Given the description of an element on the screen output the (x, y) to click on. 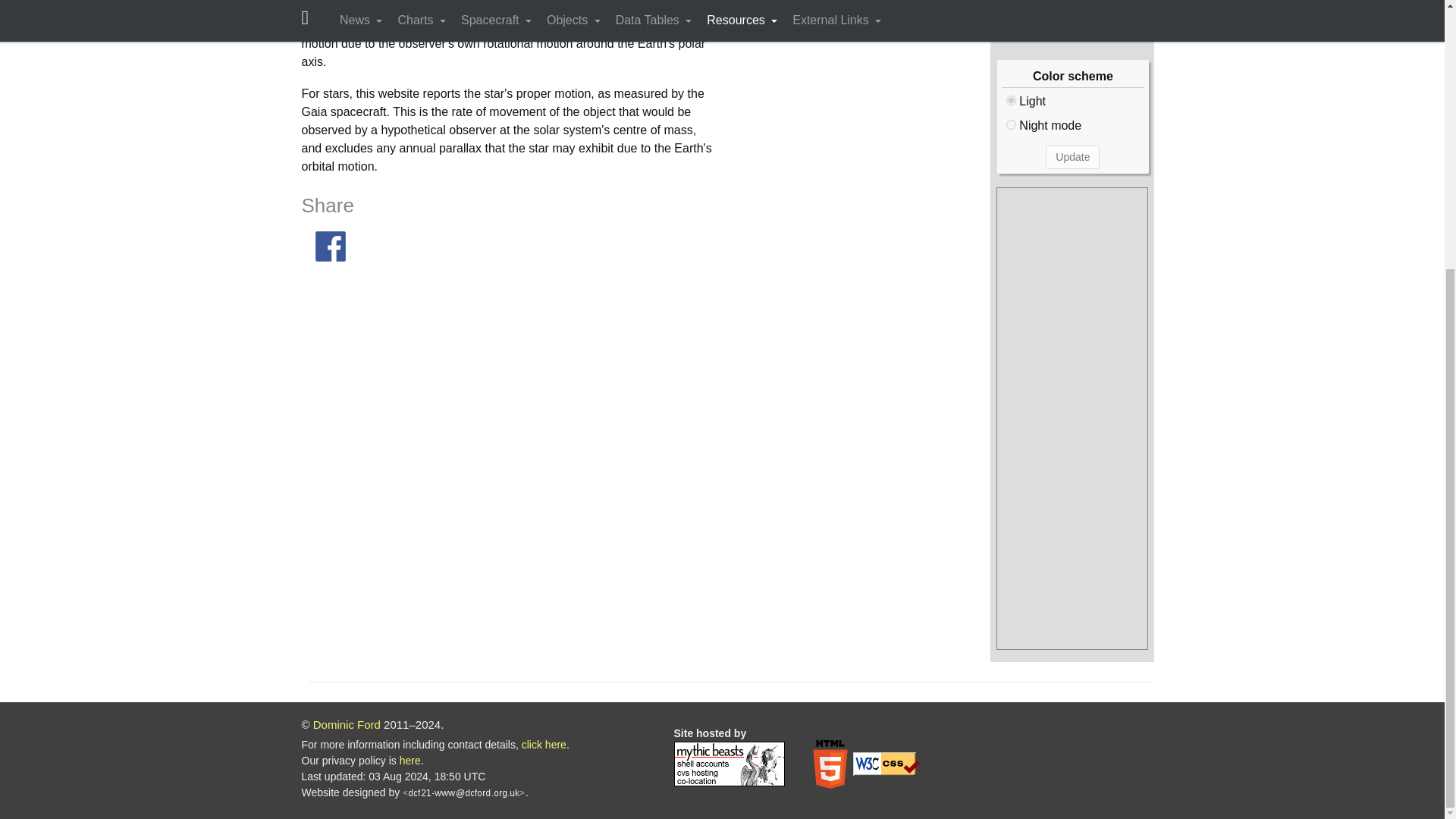
0 (1011, 100)
1 (1011, 124)
Change location... (1072, 17)
Update (1072, 156)
